Given the description of an element on the screen output the (x, y) to click on. 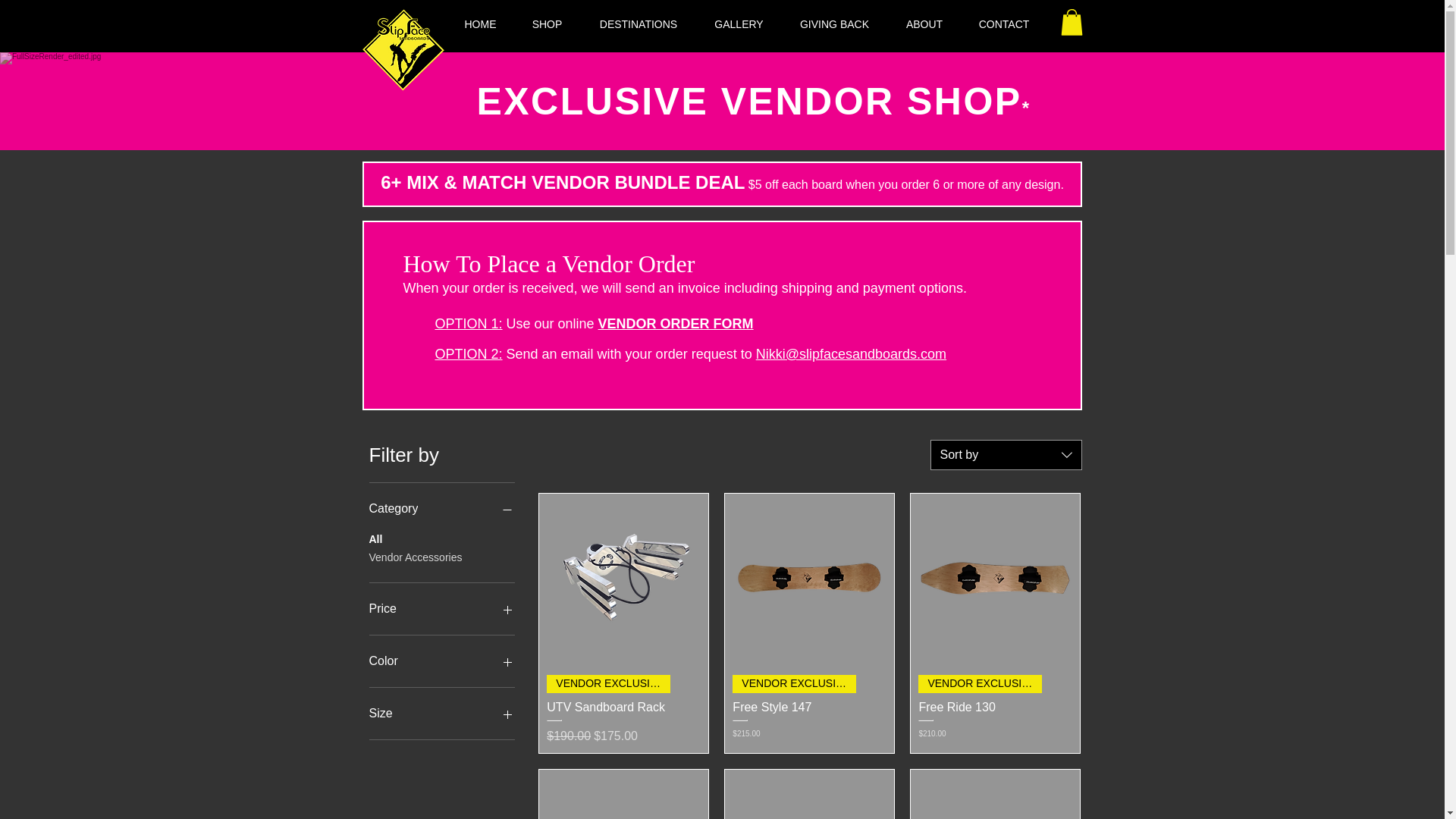
SHOP (546, 24)
Size (441, 712)
DESTINATIONS (638, 24)
Color (441, 660)
Sort by (1005, 454)
ABOUT (924, 24)
GIVING BACK (833, 24)
Category (441, 508)
Slip Face.png (403, 51)
CONTACT (1003, 24)
Price (441, 608)
HOME (479, 24)
GALLERY (738, 24)
VENDOR ORDER FORM (676, 323)
